Given the description of an element on the screen output the (x, y) to click on. 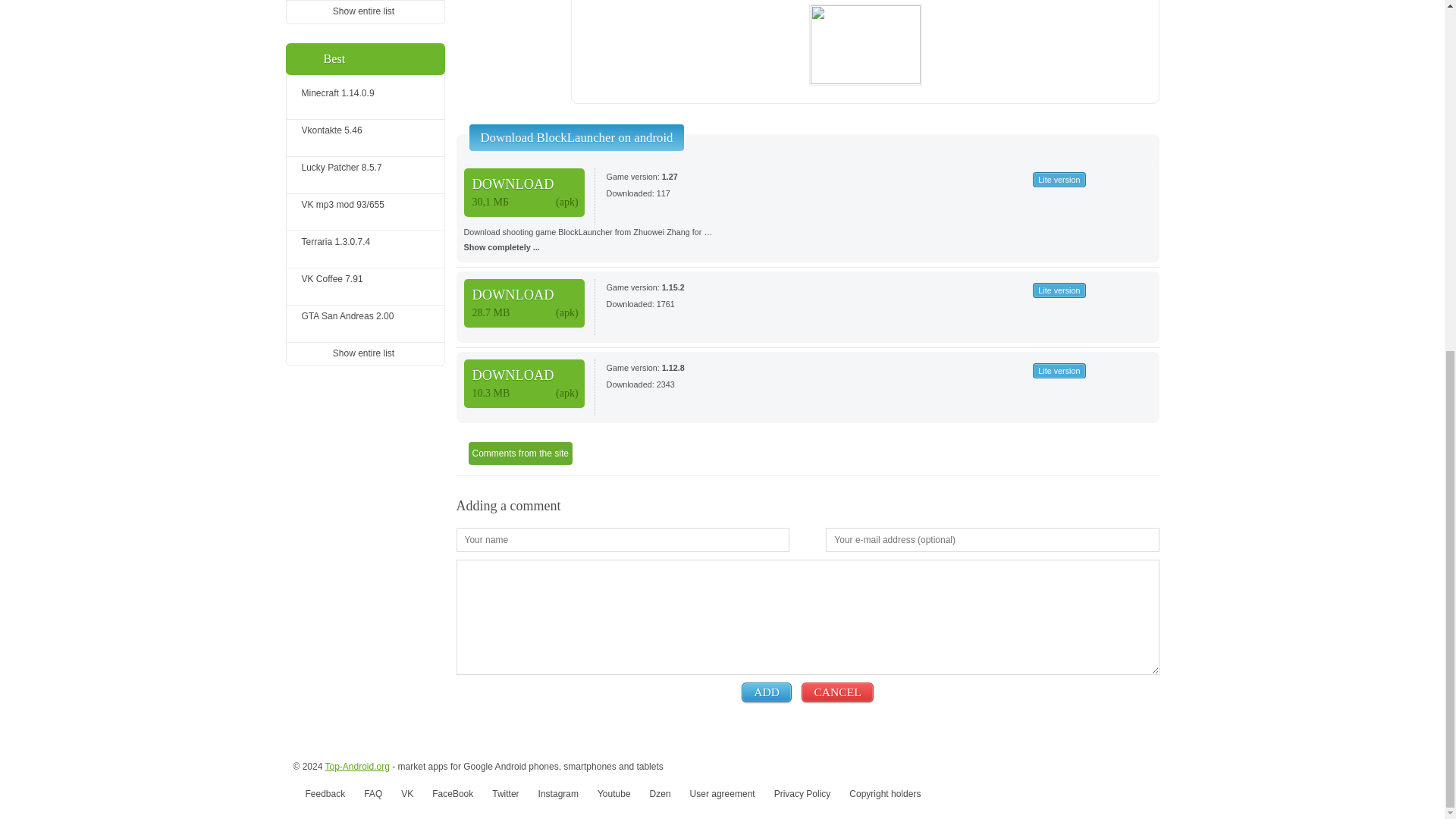
ADD (766, 691)
CANCEL (837, 691)
Lite version (1058, 179)
Download apk file, size 28.7 MB (524, 303)
Lite version (1058, 370)
Download apk file, size 10.3 MB (524, 383)
Lite version (1058, 290)
